Given the description of an element on the screen output the (x, y) to click on. 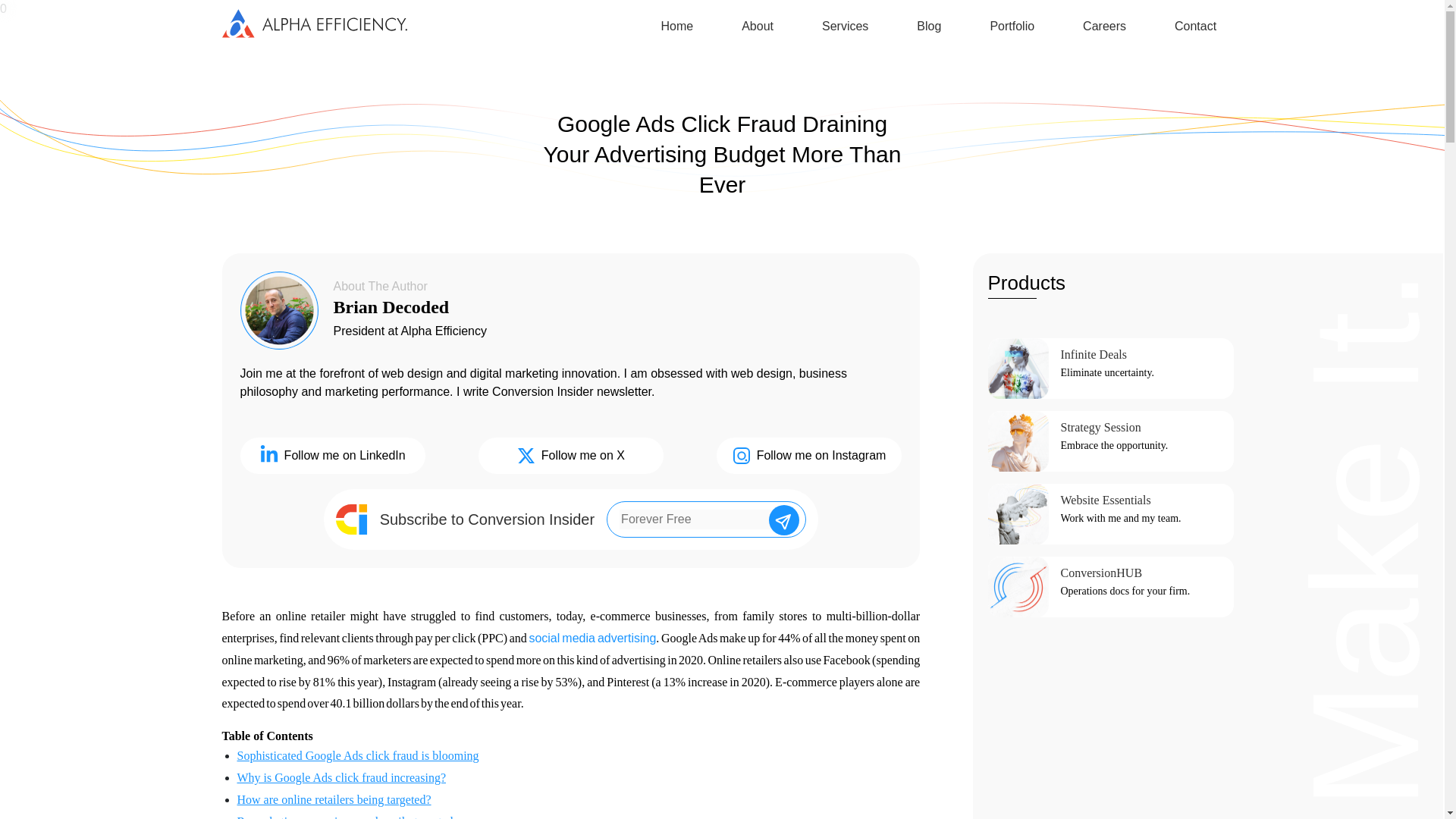
Blog (928, 28)
Home (677, 28)
Portfolio (1011, 28)
Careers (1104, 28)
Services (844, 28)
Contact (1194, 28)
About (757, 28)
